Given the description of an element on the screen output the (x, y) to click on. 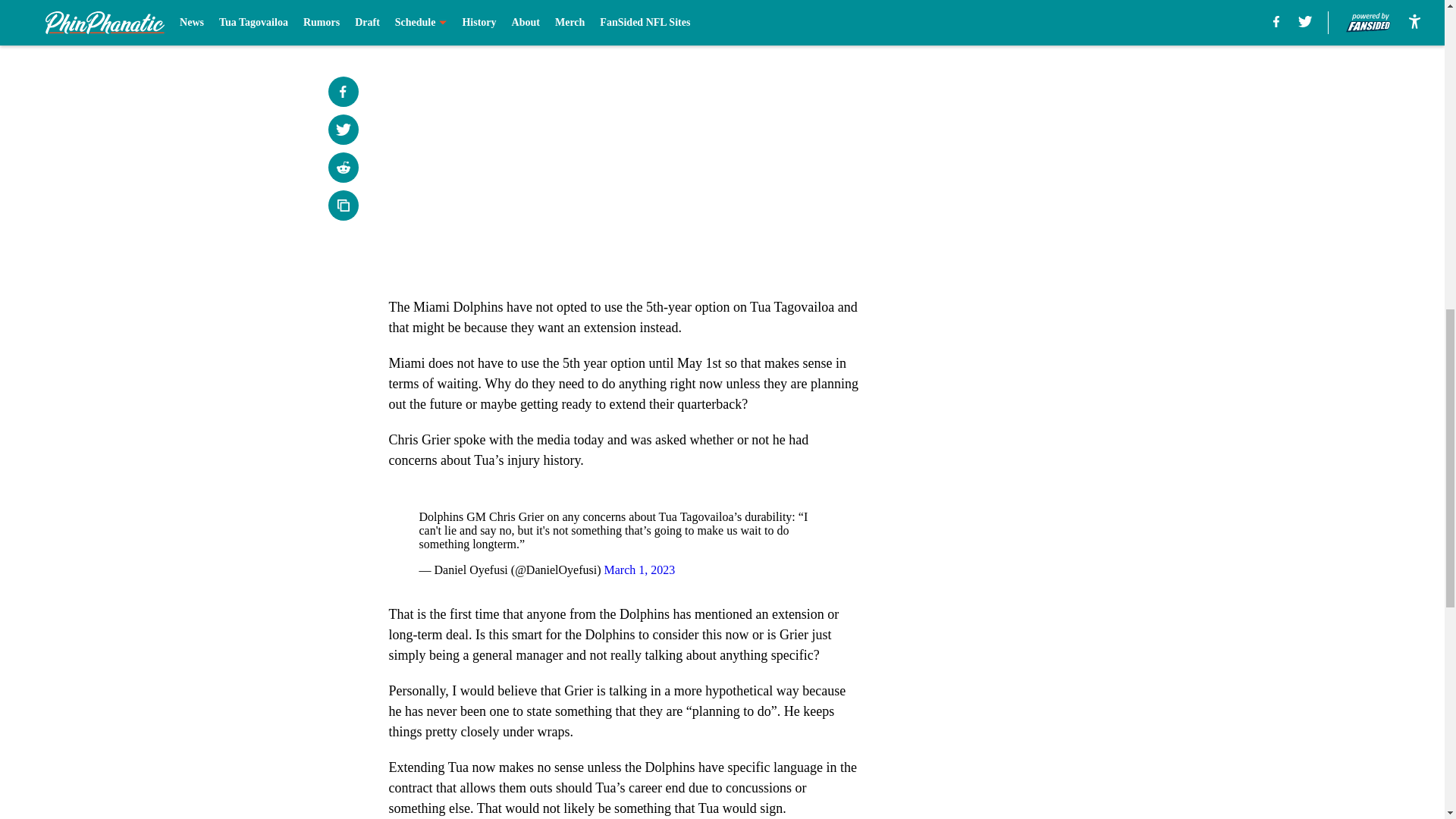
March 1, 2023 (639, 569)
